Given the description of an element on the screen output the (x, y) to click on. 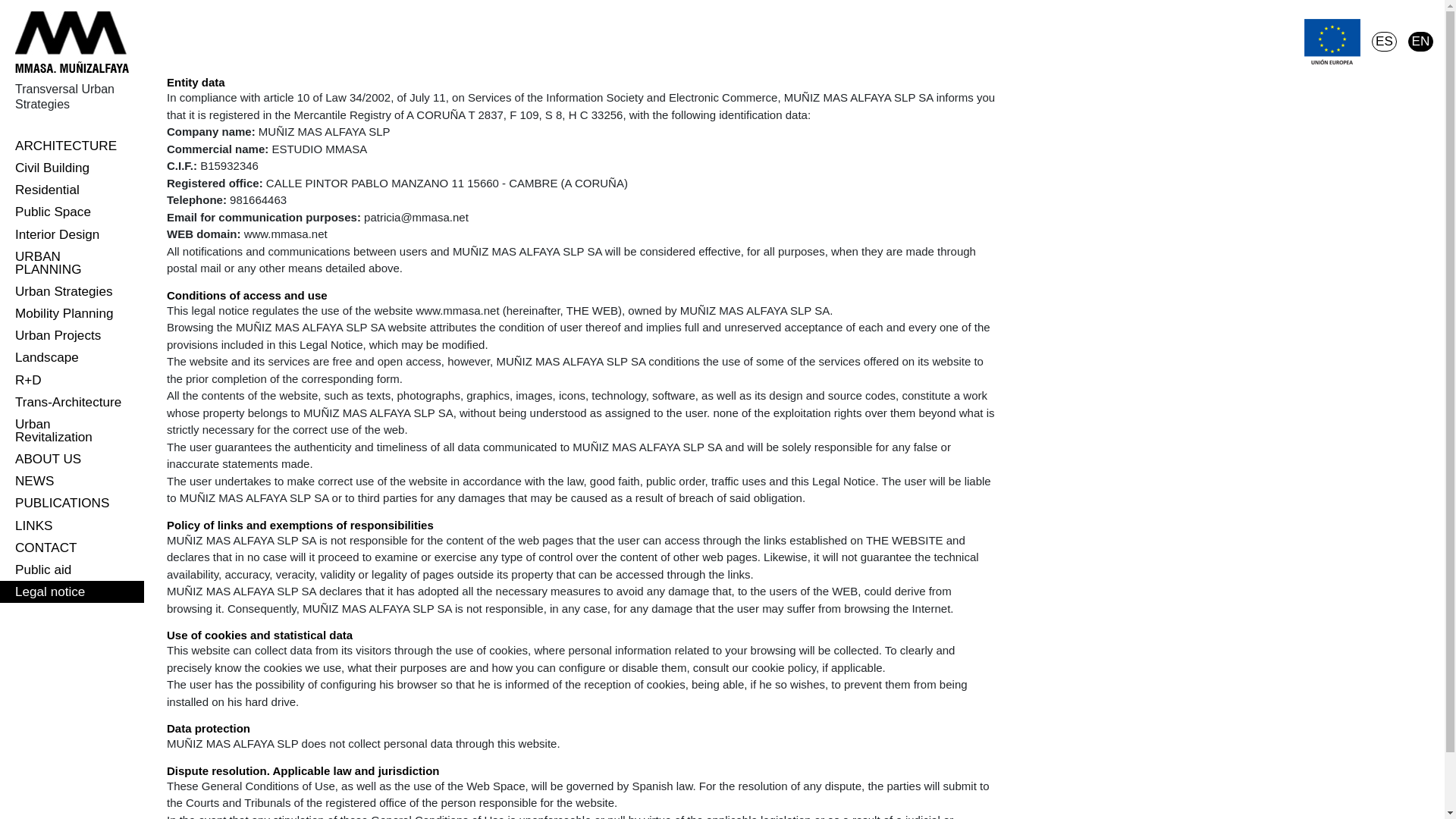
Residential (72, 189)
Urban Strategies (72, 291)
Urban Revitalization (72, 430)
Interior Design (72, 234)
CONTACT (72, 547)
Public aid (72, 569)
ES (1383, 41)
LINKS (72, 526)
URBAN PLANNING (72, 262)
Landscape (72, 357)
